Given the description of an element on the screen output the (x, y) to click on. 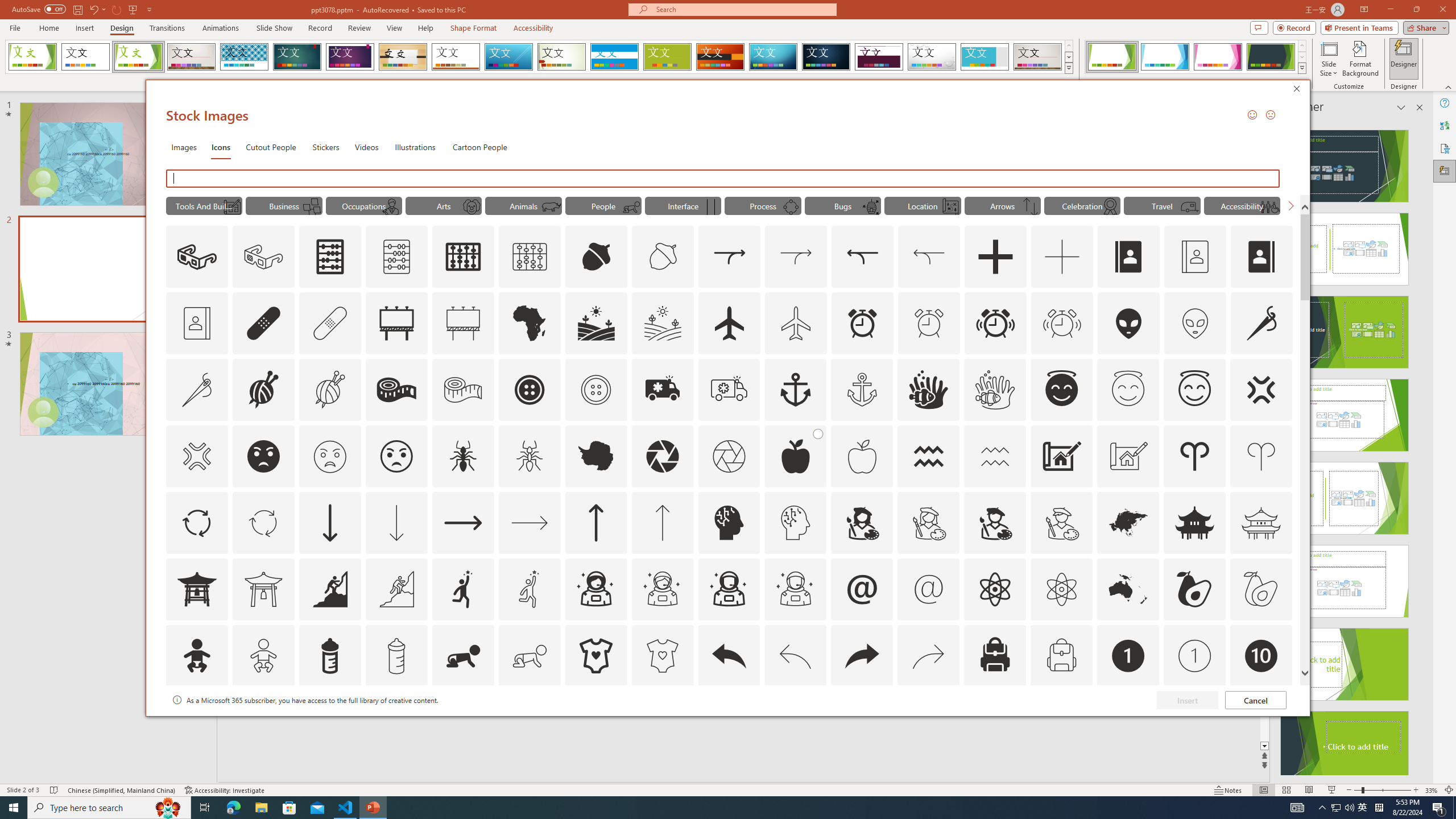
AutomationID: Icons_BabyCrawling (462, 655)
AutomationID: Icons_Back_LTR_M (795, 655)
AutomationID: Icons_Badge7_M (995, 721)
AutomationID: Icons_Badge10 (1260, 655)
Banded (614, 56)
AutomationID: Icons_Badge2 (263, 721)
AutomationID: Icons_Anchor_M (861, 389)
AutomationID: Icons_Badge8_M (1128, 721)
AutomationID: Icons_ArrowRight_M (529, 522)
